Given the description of an element on the screen output the (x, y) to click on. 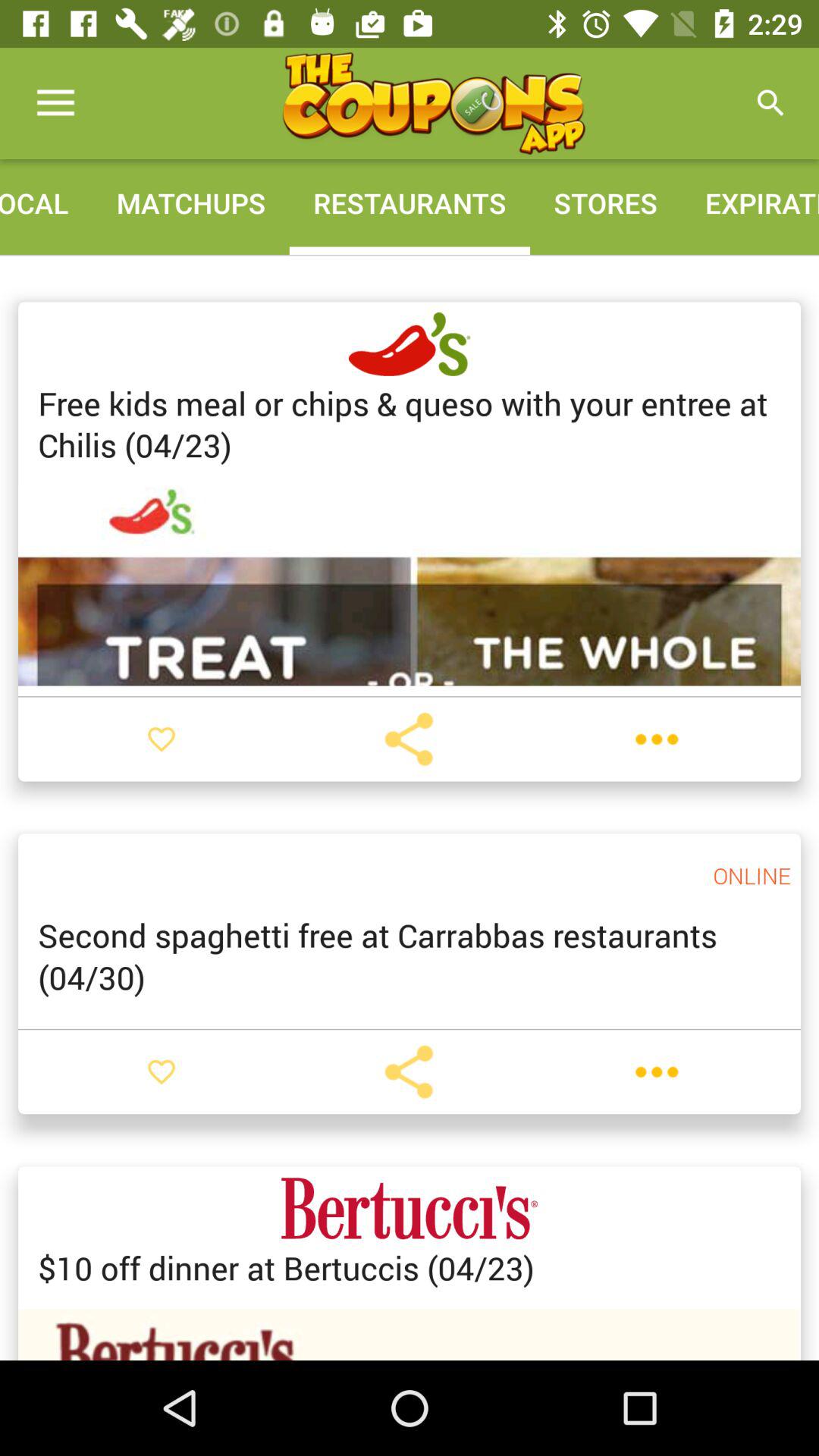
more options (656, 739)
